Given the description of an element on the screen output the (x, y) to click on. 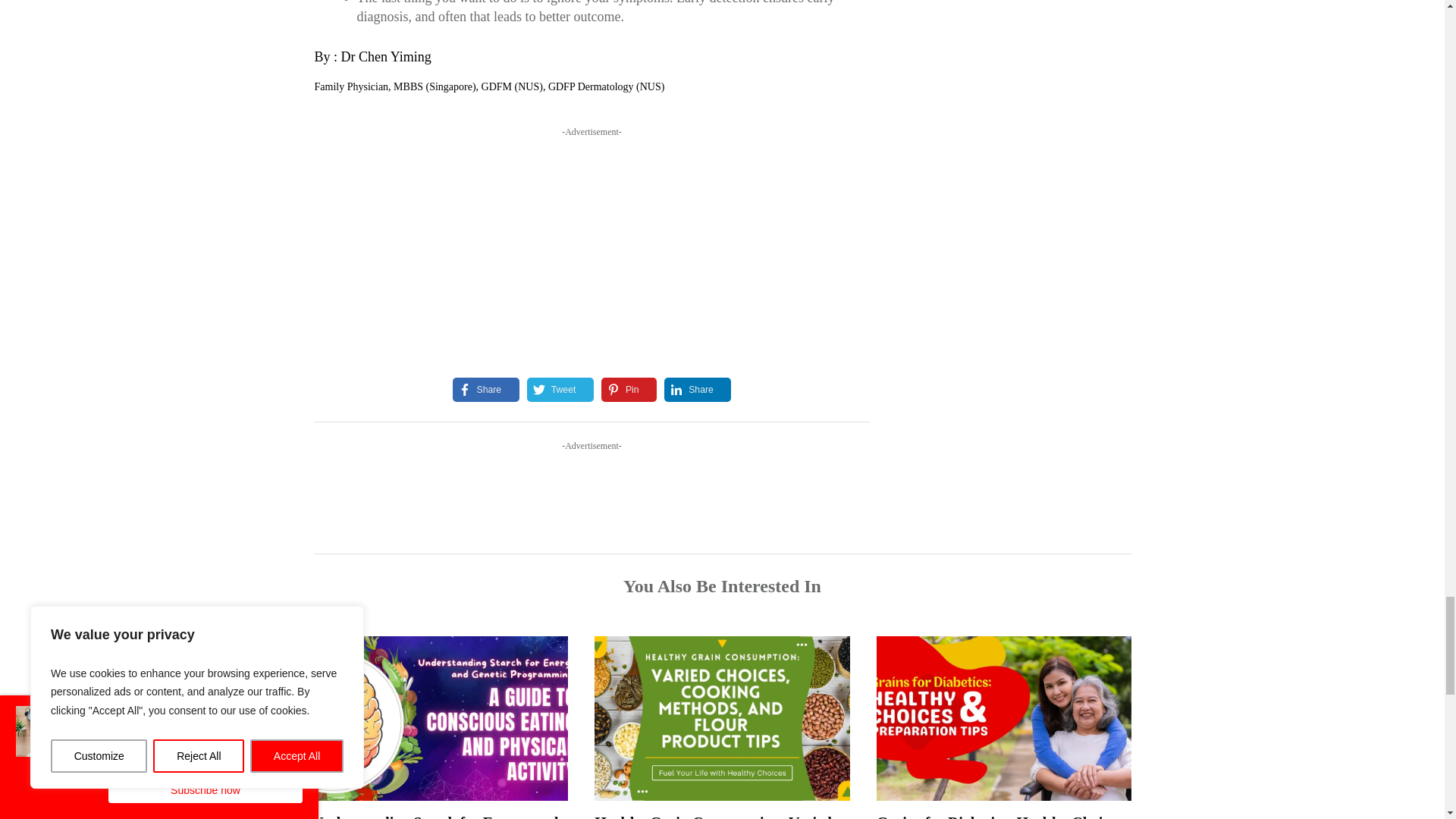
Grains for Diabetics: Healthy Choices and Preparation Tips (999, 816)
Tweet (551, 389)
Share (477, 389)
Pin (620, 389)
